Given the description of an element on the screen output the (x, y) to click on. 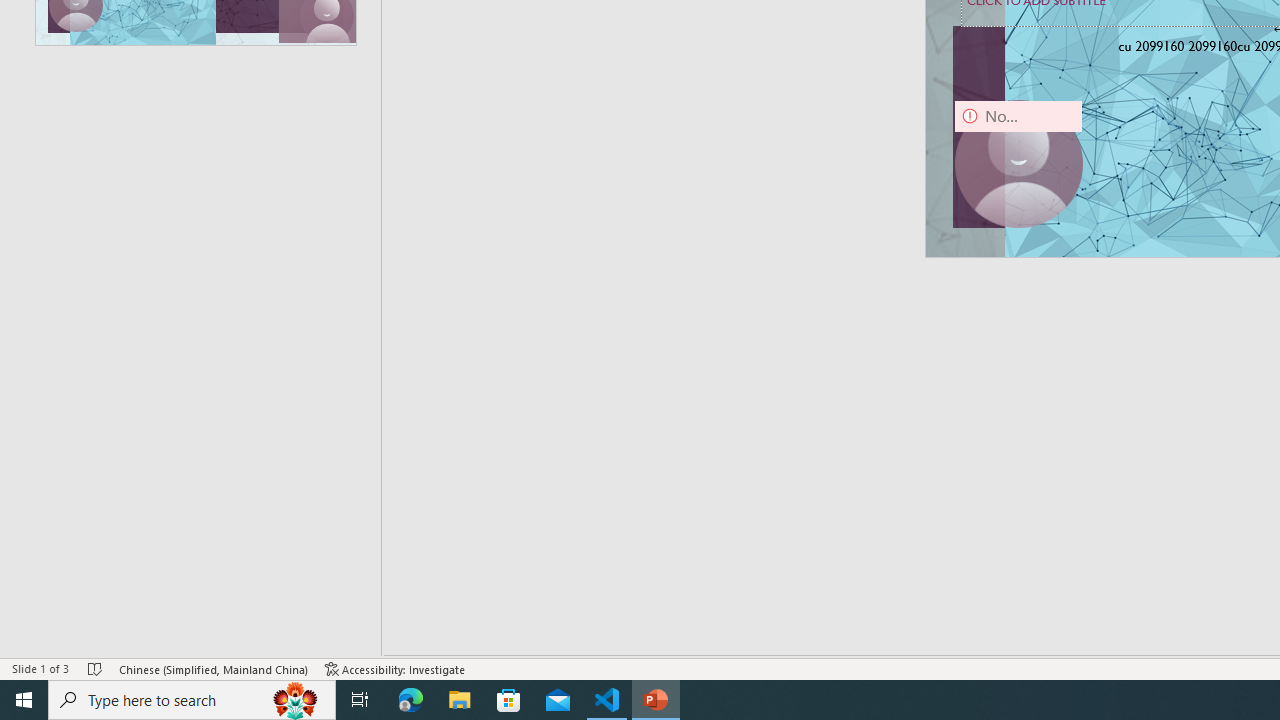
Camera 9, No camera detected. (1018, 164)
